Given the description of an element on the screen output the (x, y) to click on. 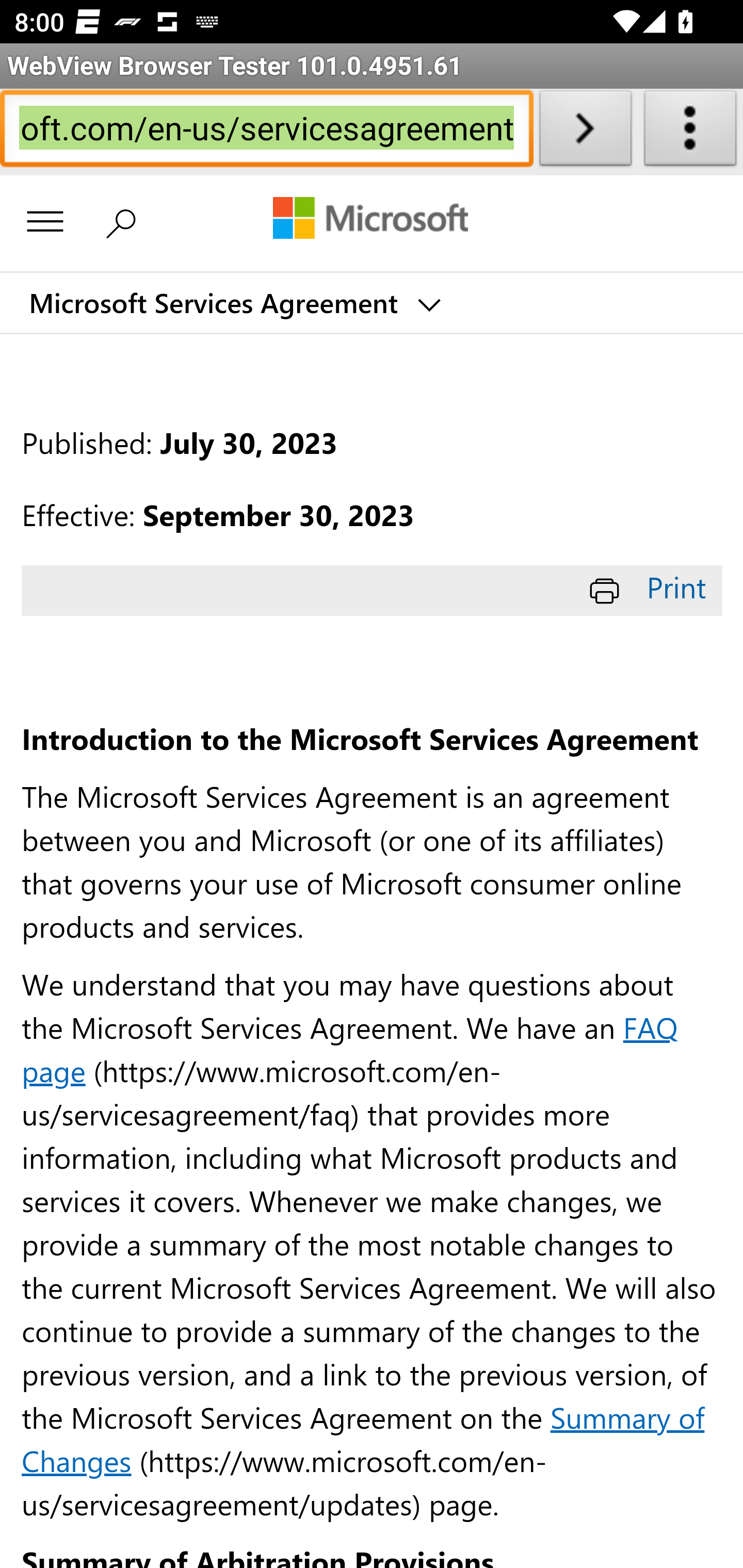
https://www.microsoft.com/en-us/servicesagreement (266, 132)
Load URL (585, 132)
About WebView (690, 132)
Microsoft (370, 219)
Search Microsoft.com (126, 221)
Search Microsoft.com (126, 221)
Microsoft Services Agreement (233, 302)
Print (651, 586)
FAQ page (350, 1047)
Summary of Changes (363, 1438)
